Given the description of an element on the screen output the (x, y) to click on. 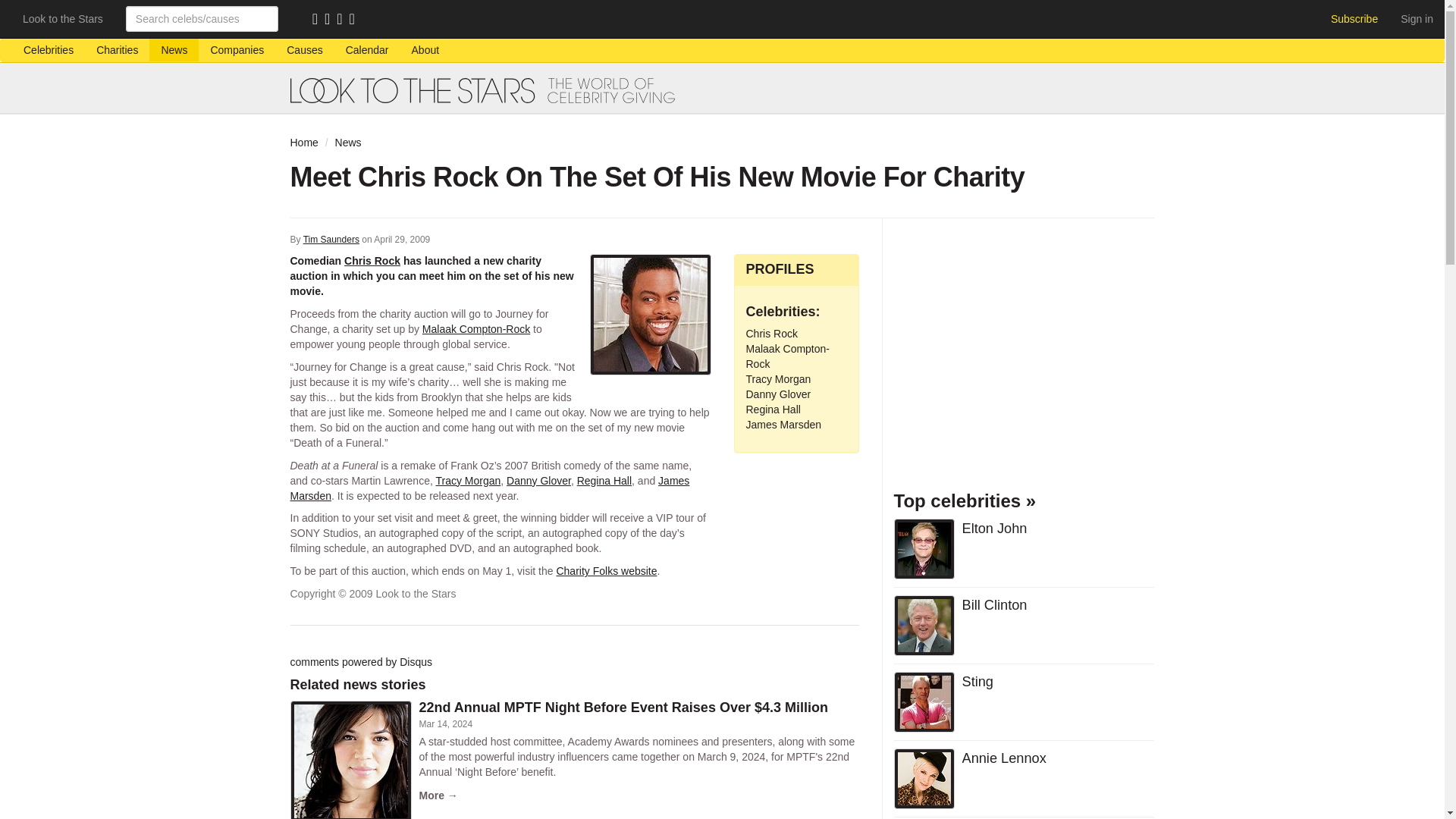
Subscribe (1354, 18)
Twitter (342, 20)
Regina Hall (603, 480)
Malaak Compton-Rock (475, 328)
Malaak Compton-Rock (787, 356)
About (425, 49)
Tim Saunders (330, 239)
Look to the Stars - the world of celebrity giving (721, 90)
Charity Folks website (606, 571)
Mailing list (330, 20)
Tracy Morgan (467, 480)
RSS feed (318, 20)
Danny Glover (777, 394)
Tracy Morgan (777, 378)
Companies (236, 49)
